Given the description of an element on the screen output the (x, y) to click on. 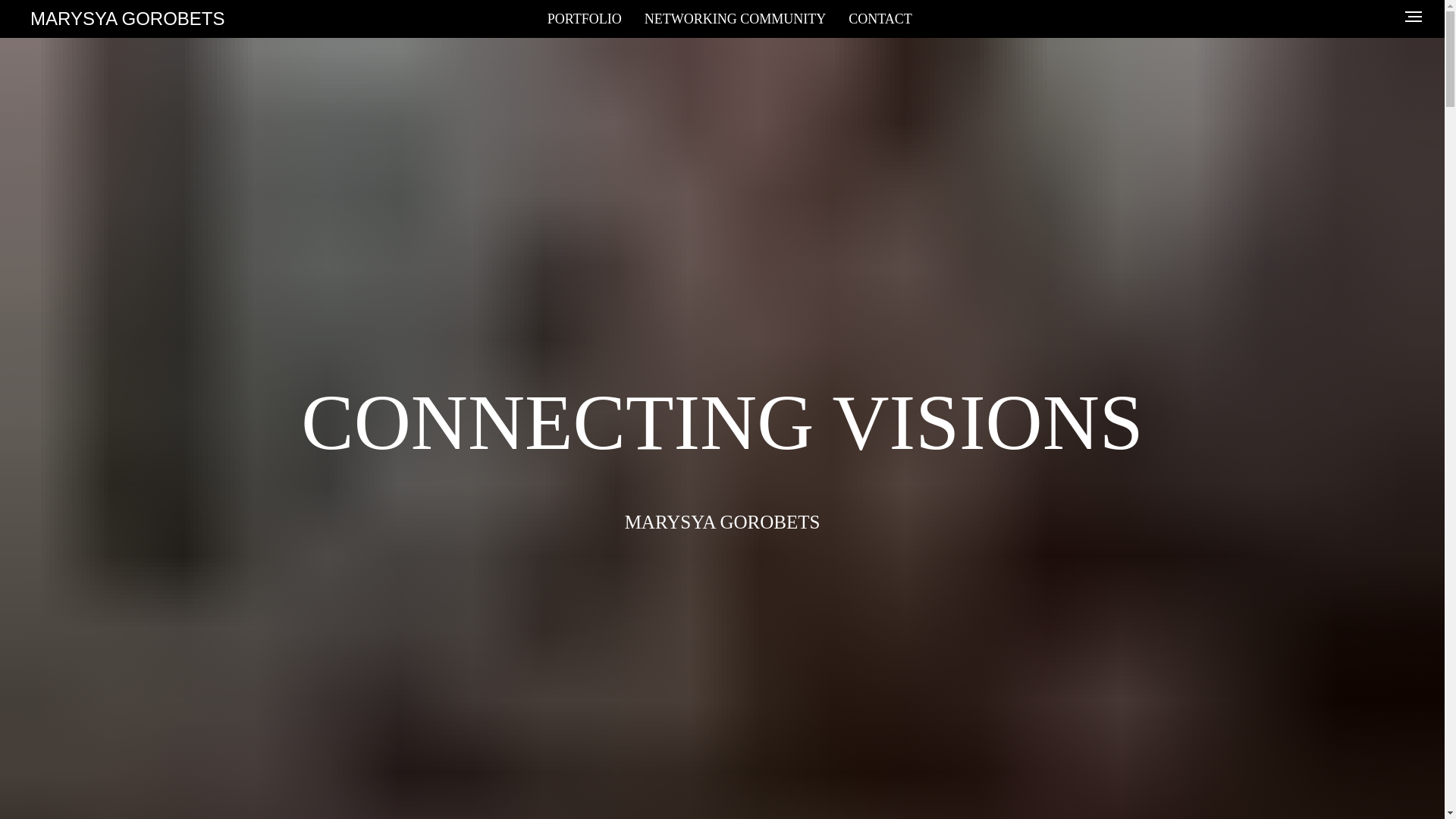
PORTFOLIO (584, 17)
MARYSYA GOROBETS (138, 18)
NETWORKING COMMUNITY (735, 18)
CONTACT (880, 17)
NETWORKING COMMUNITY (735, 17)
